Given the description of an element on the screen output the (x, y) to click on. 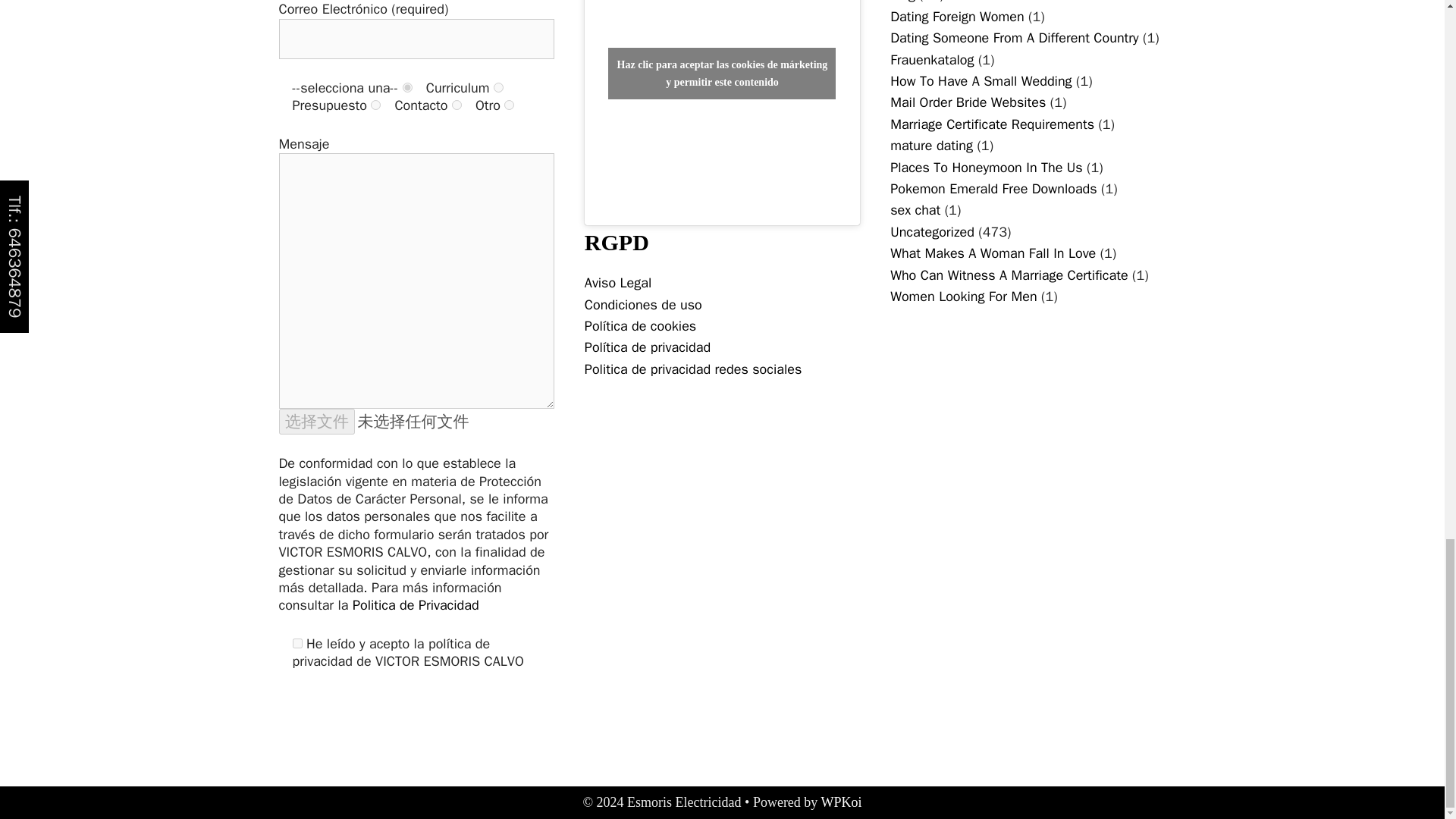
Otro (508, 104)
Enviar (315, 709)
Politica de Privacidad (415, 605)
Condiciones de uso (643, 304)
Contacto (456, 104)
Curriculum (498, 87)
Presupuesto (375, 104)
Aviso Legal (617, 282)
Enviar (315, 709)
--selecciona una-- (407, 87)
